Given the description of an element on the screen output the (x, y) to click on. 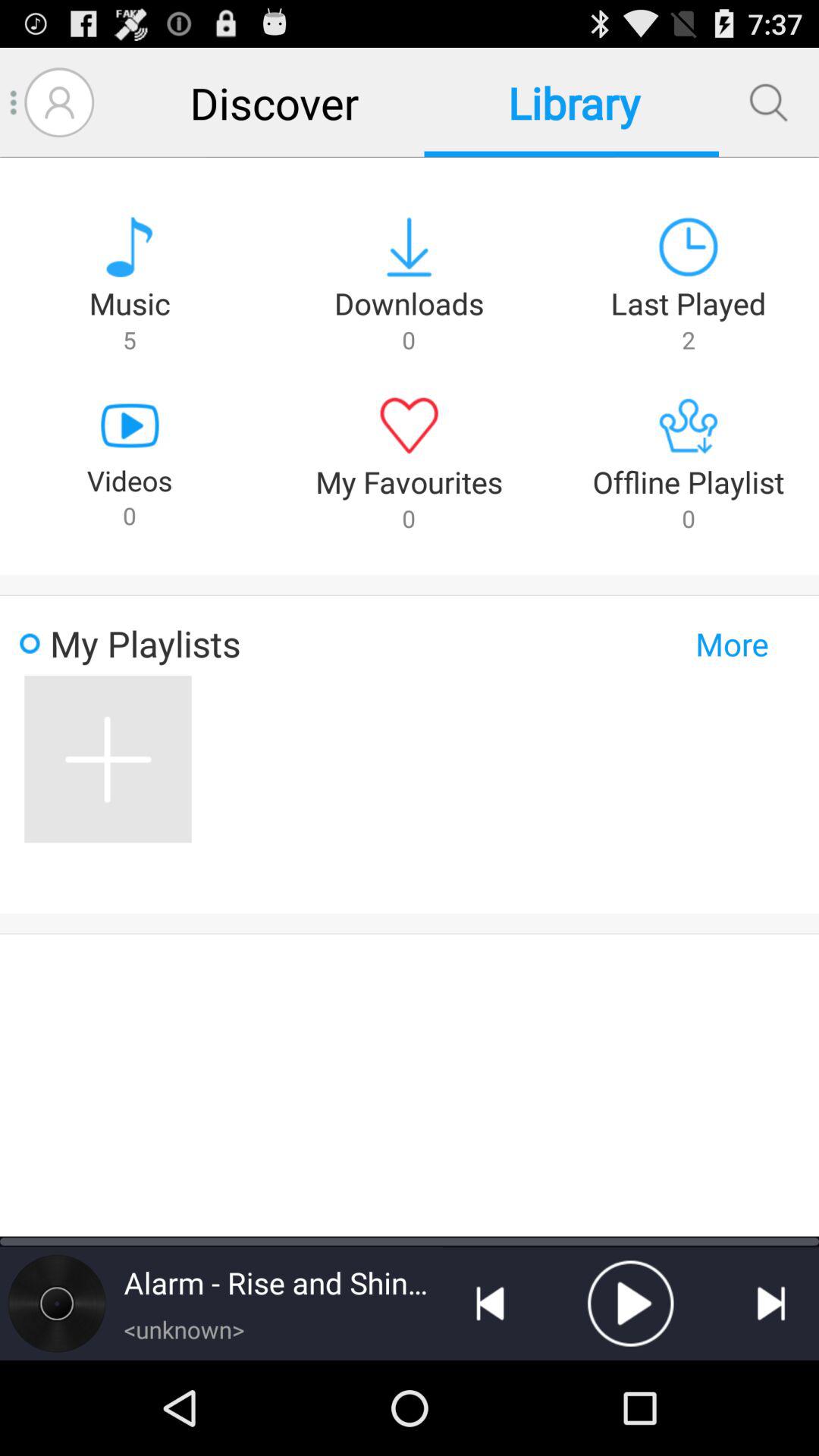
go back (490, 1303)
